Given the description of an element on the screen output the (x, y) to click on. 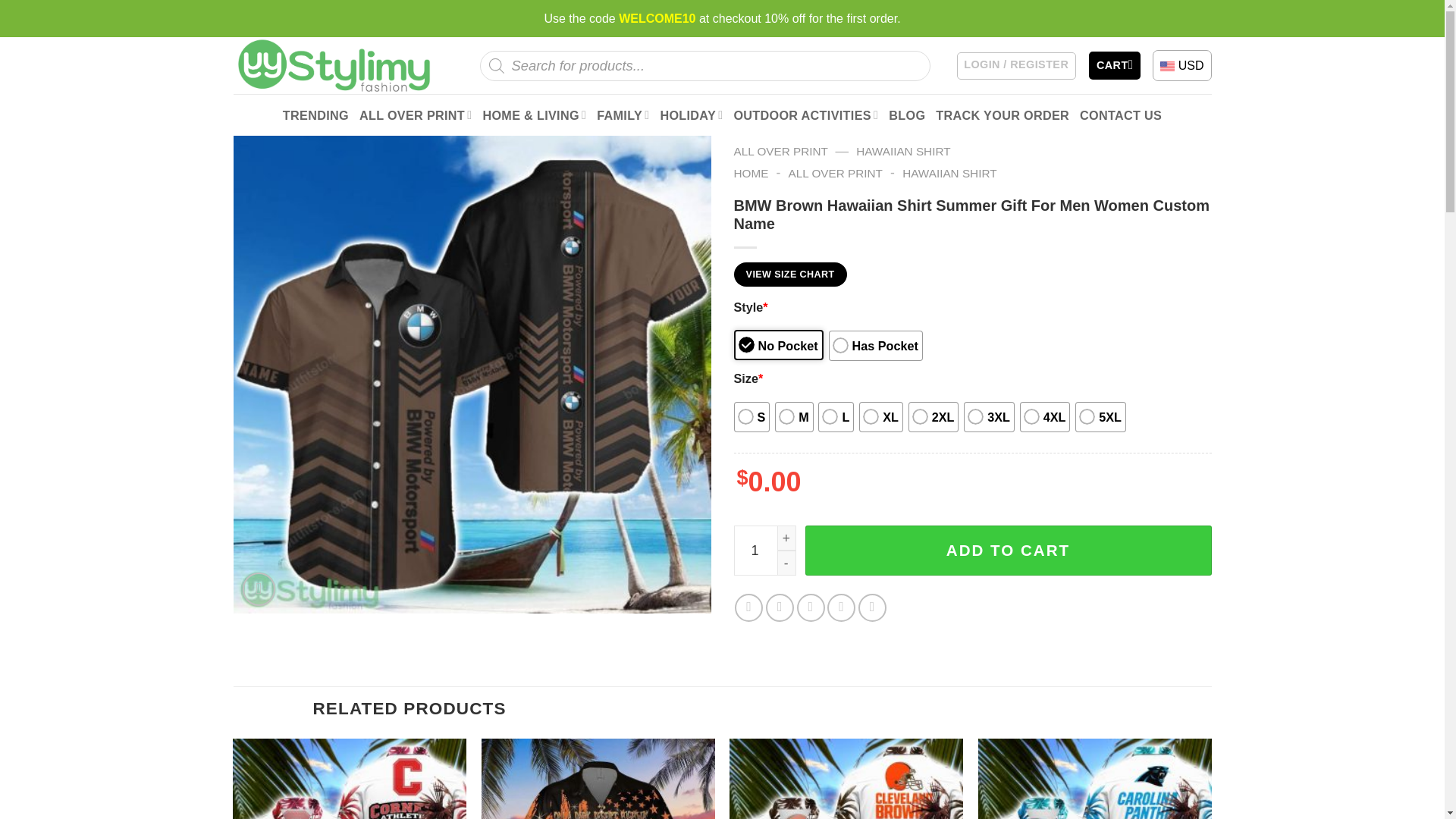
Qty (764, 550)
M (793, 417)
Stylimy - Latest Trendy Outfit Ideas (332, 64)
4XL (1045, 417)
No Pocket (778, 345)
1 (764, 550)
2XL (933, 417)
XL (880, 417)
Zoom (259, 589)
FAMILY (622, 115)
3XL (988, 417)
5XL (1100, 417)
L (835, 417)
CART (1114, 65)
